Given the description of an element on the screen output the (x, y) to click on. 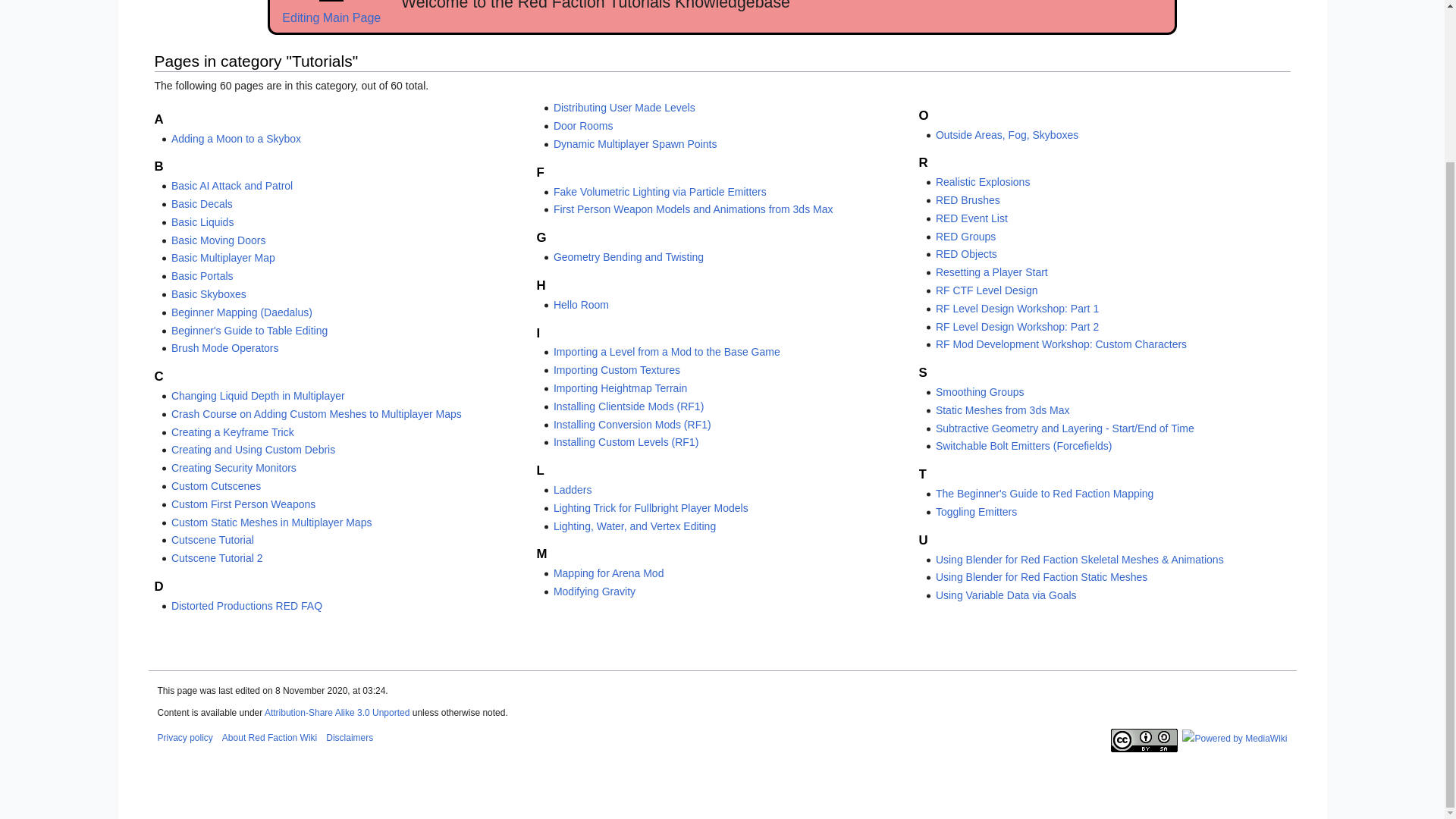
Adding a Moon to a Skybox (236, 138)
Basic AI Attack and Patrol (231, 185)
Editing Main Page (331, 17)
